Given the description of an element on the screen output the (x, y) to click on. 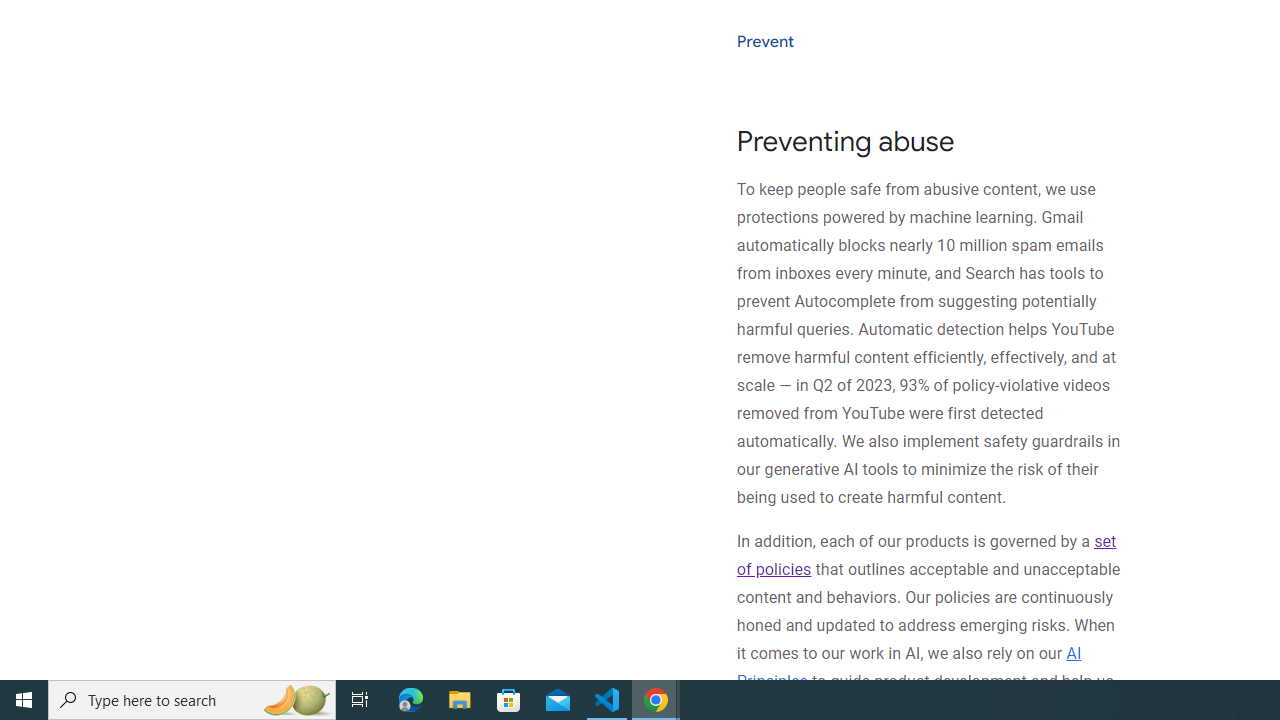
set of policies (926, 555)
AI Principles (908, 667)
